Given the description of an element on the screen output the (x, y) to click on. 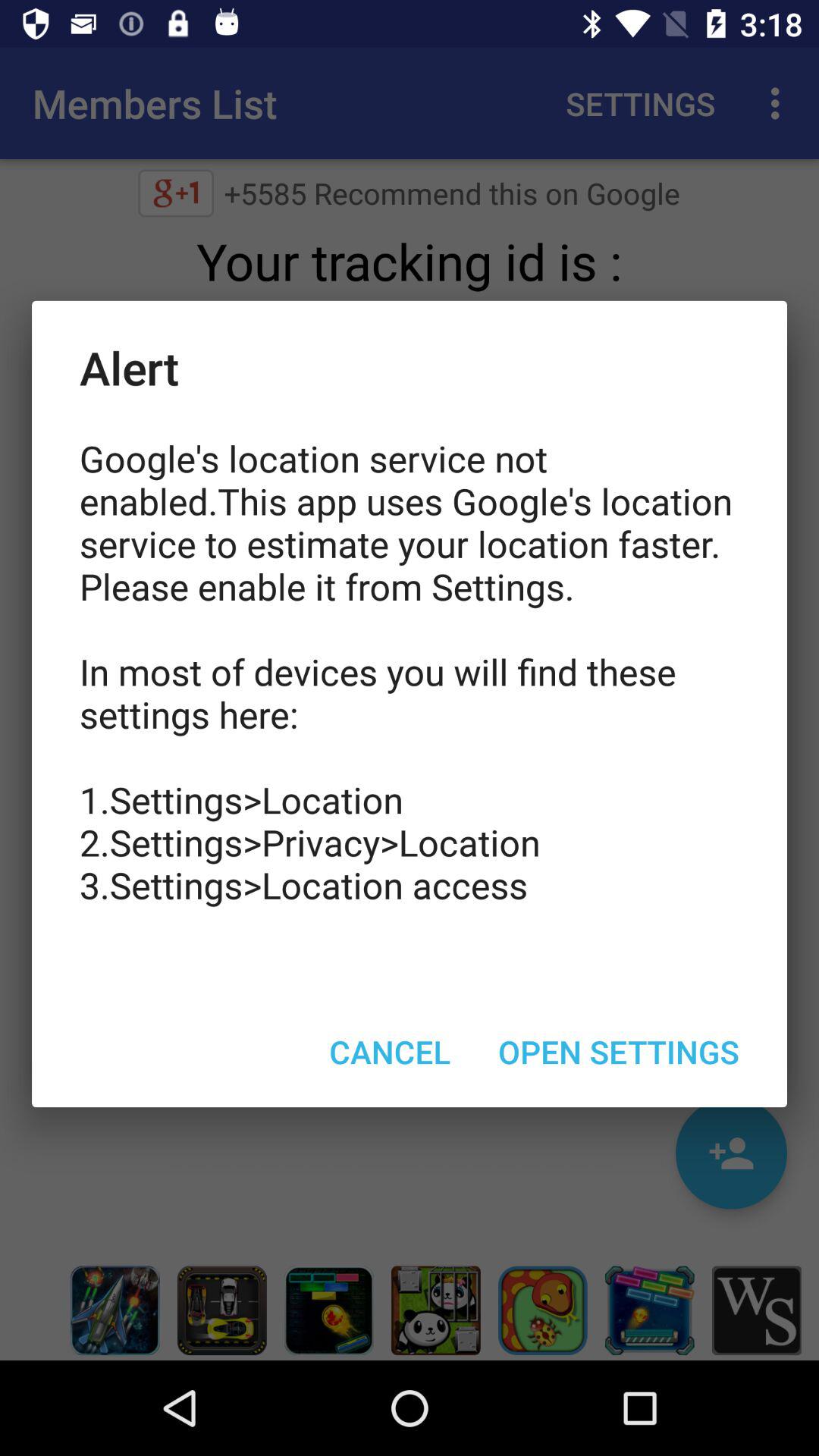
turn off icon next to the open settings item (389, 1051)
